Given the description of an element on the screen output the (x, y) to click on. 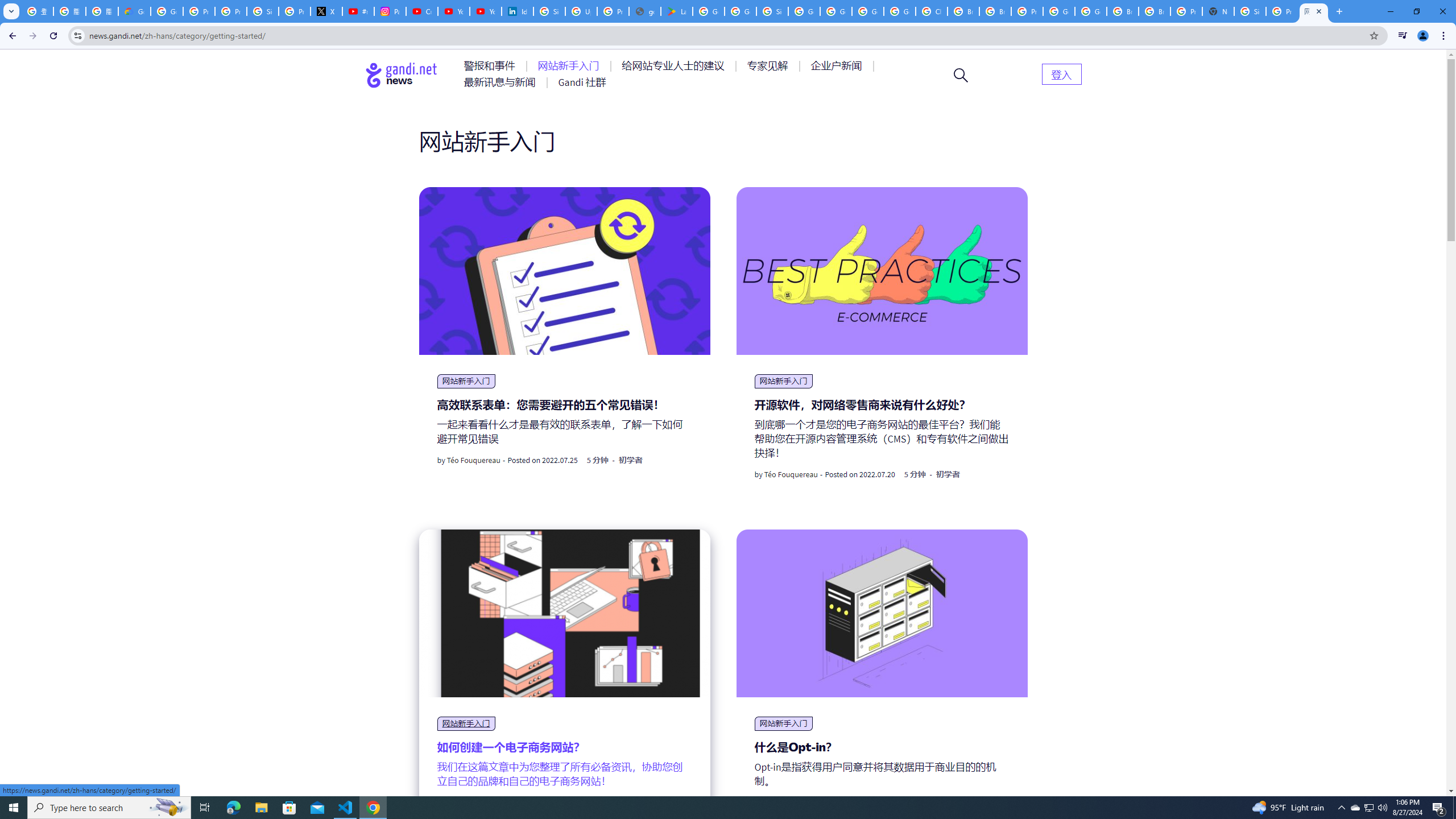
AutomationID: menu-item-77761 (492, 65)
Sign in - Google Accounts (262, 11)
Sign in - Google Accounts (1249, 11)
Go to home (401, 75)
AutomationID: menu-item-77765 (838, 65)
YouTube Culture & Trends - YouTube Top 10, 2021 (485, 11)
